Given the description of an element on the screen output the (x, y) to click on. 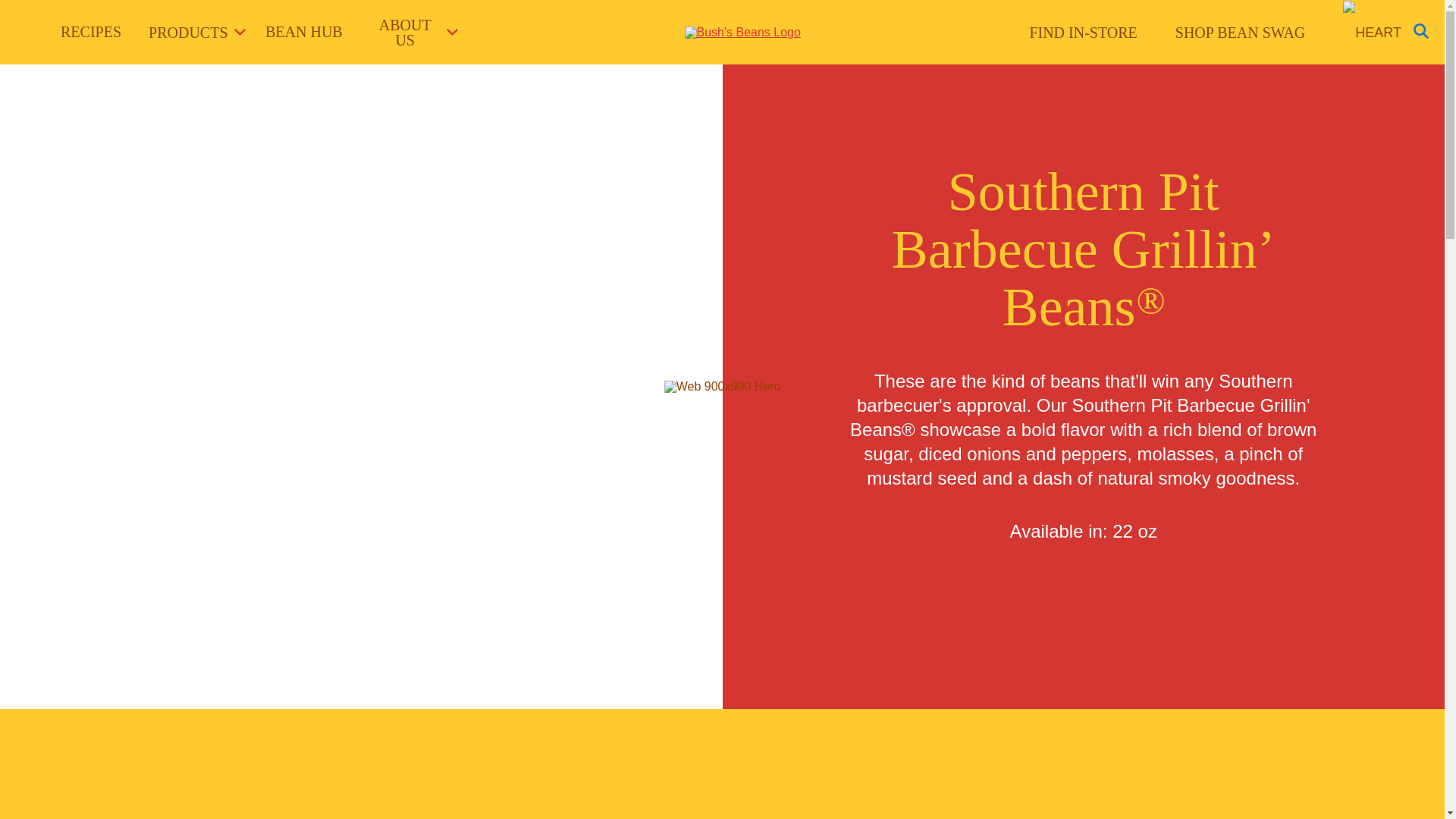
FIND IN-STORE (1083, 32)
Submit Search (1130, 7)
SHOP BEAN SWAG (1240, 32)
My Favorites (1371, 32)
PRODUCTS (189, 32)
ABOUT US (411, 32)
BEAN HUB (303, 32)
RECIPES (90, 32)
